Given the description of an element on the screen output the (x, y) to click on. 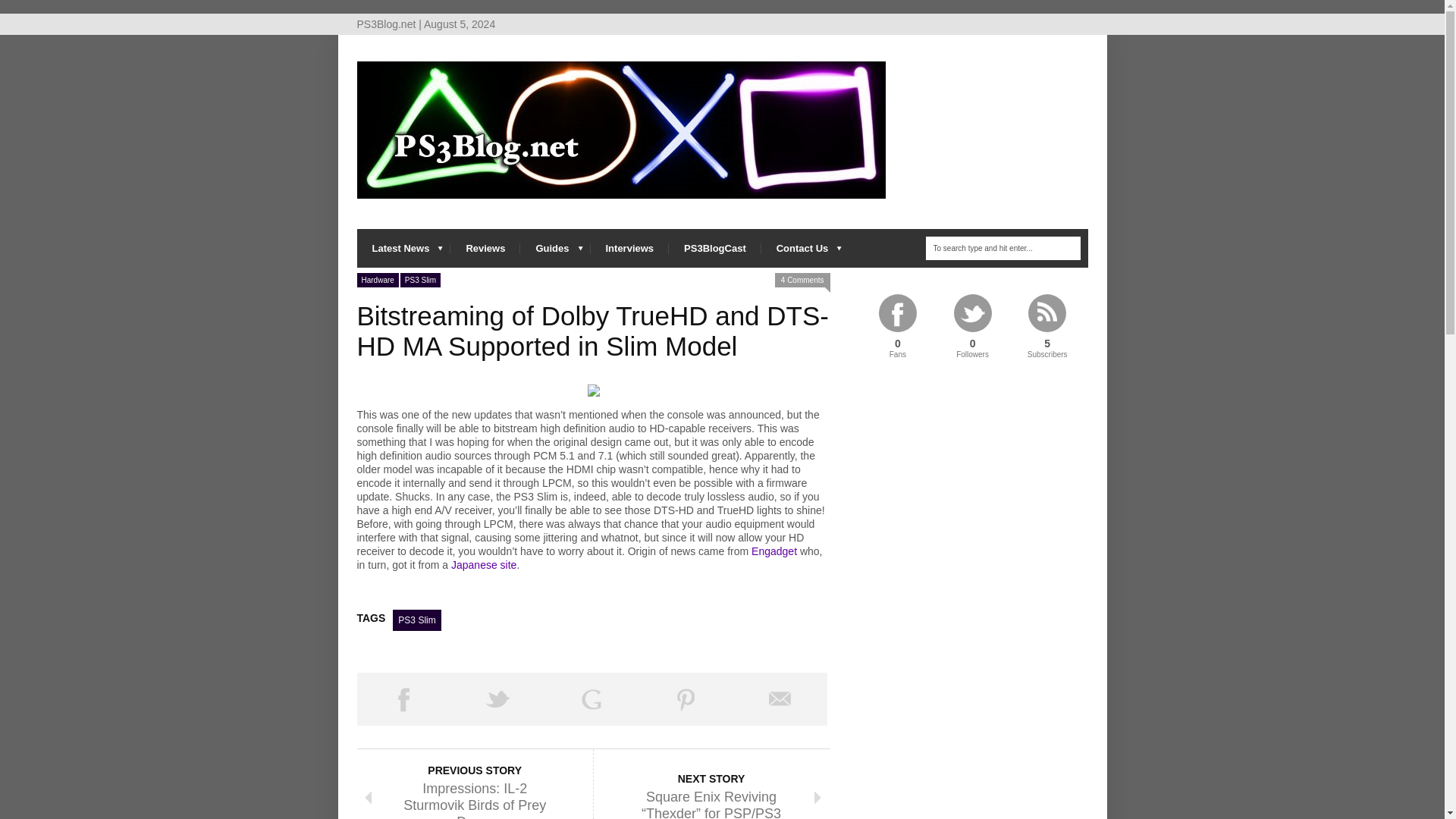
PS3BlogCast (714, 248)
PS3 Slim (420, 279)
Share on Facebook (402, 698)
Japanese site (483, 564)
Interviews (628, 248)
To search type and hit enter... (1002, 248)
Engadget (773, 551)
Advertisement (533, 584)
PS3 Slim (417, 619)
Hardware (376, 279)
Reviews (484, 248)
4 Comments (801, 279)
